Given the description of an element on the screen output the (x, y) to click on. 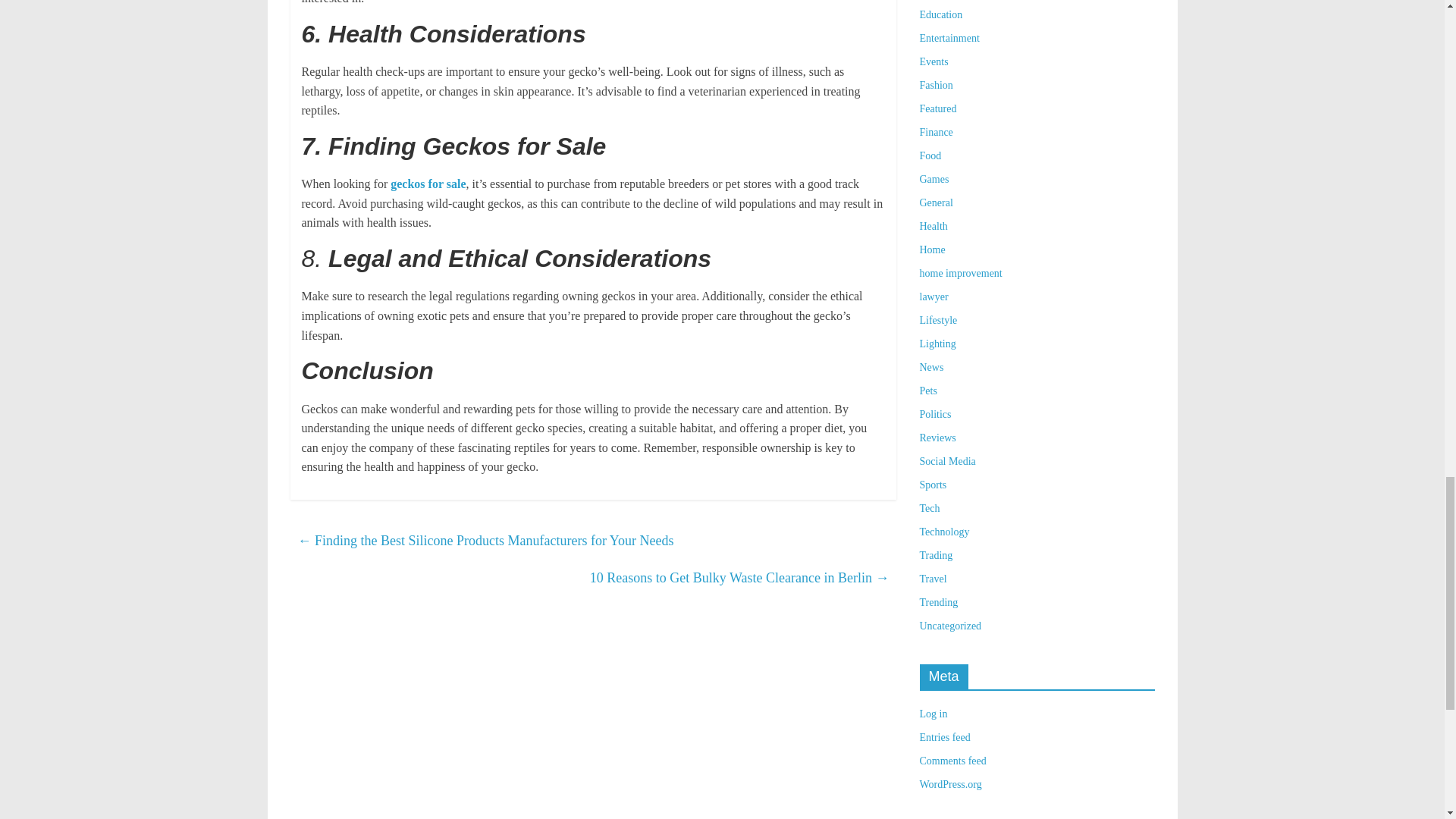
geckos for sale (427, 183)
